Given the description of an element on the screen output the (x, y) to click on. 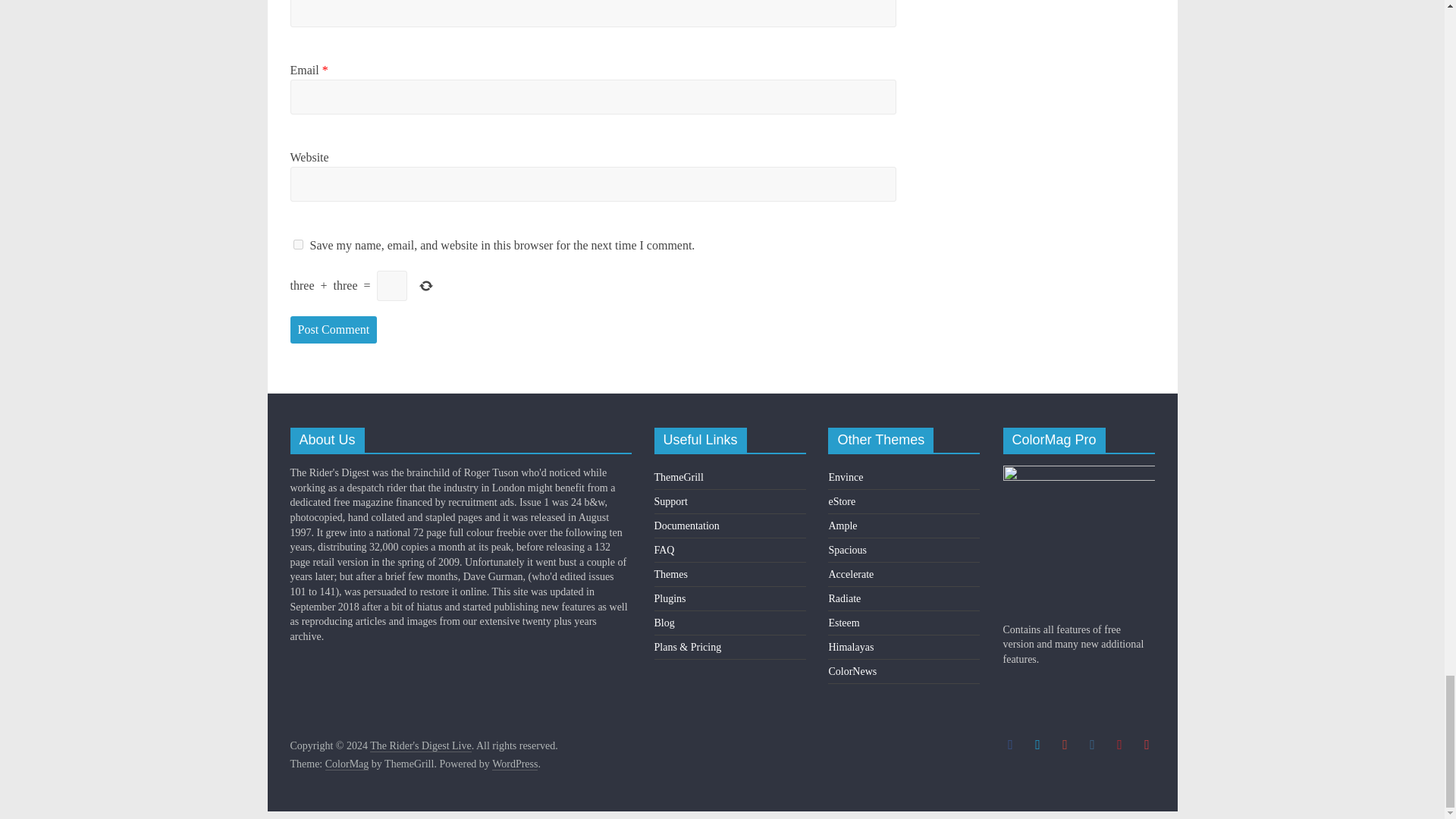
Post Comment (333, 329)
yes (297, 244)
